Given the description of an element on the screen output the (x, y) to click on. 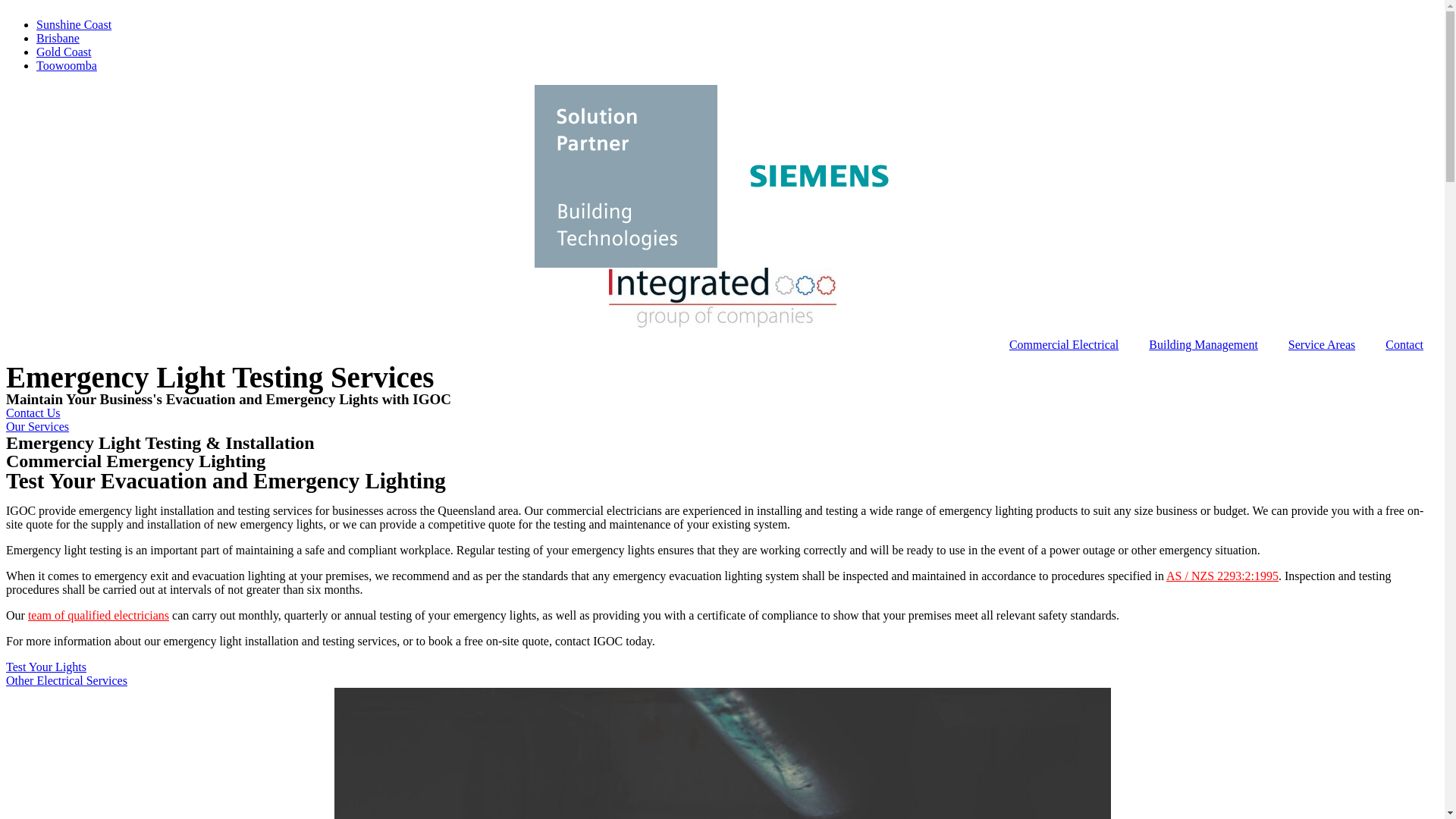
Contact Element type: text (1404, 344)
Gold Coast Element type: text (63, 51)
Building Management Element type: text (1203, 344)
Toowoomba Element type: text (66, 65)
team of qualified electricians Element type: text (98, 614)
Our Services Element type: text (37, 426)
Service Areas Element type: text (1321, 344)
Contact Us Element type: text (33, 412)
Brisbane Element type: text (57, 37)
Other Electrical Services Element type: text (66, 680)
Test Your Lights Element type: text (46, 666)
Sunshine Coast Element type: text (73, 24)
AS / NZS 2293:2:1995 Element type: text (1222, 575)
Commercial Electrical Element type: text (1063, 344)
